Given the description of an element on the screen output the (x, y) to click on. 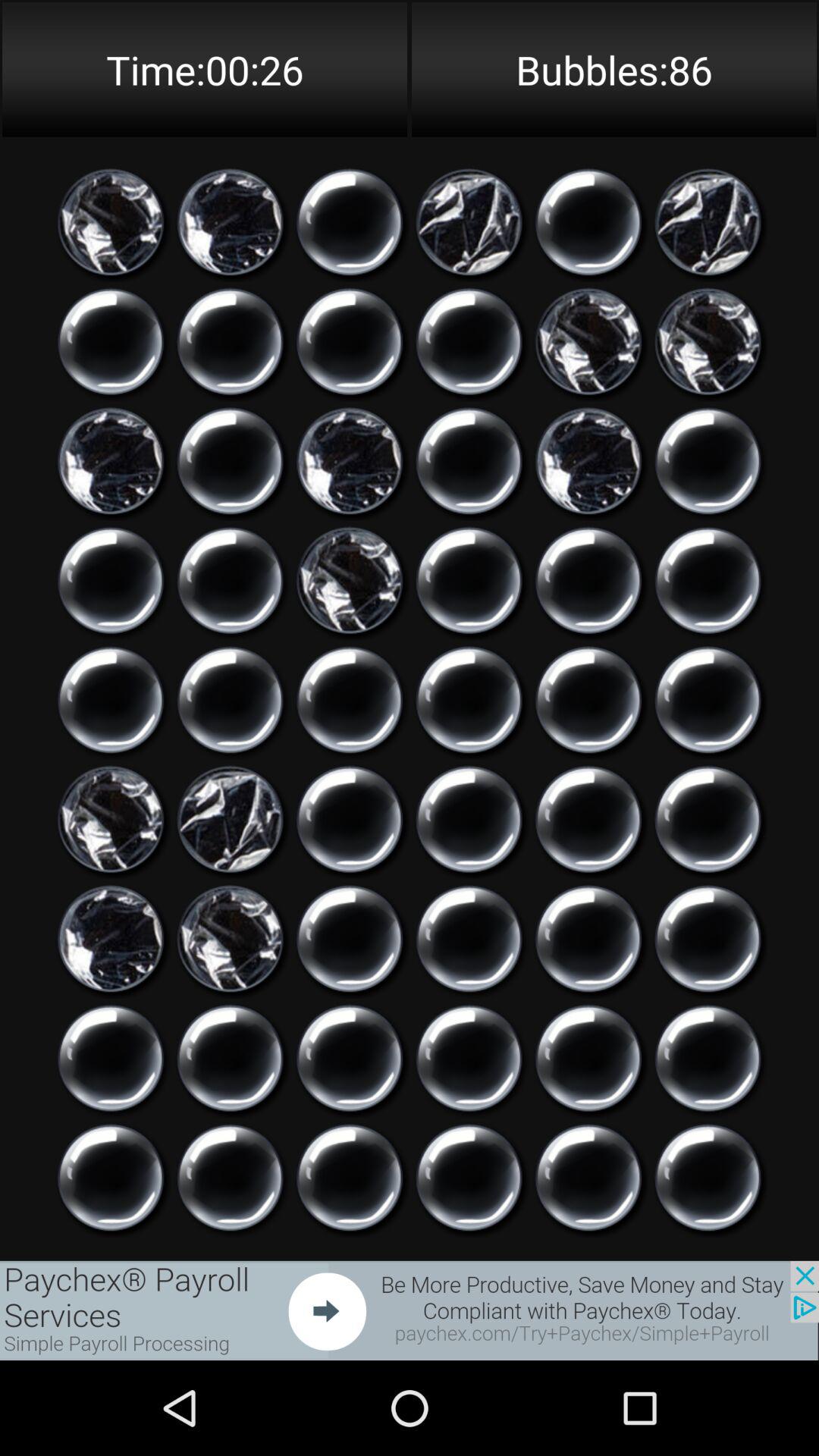
popped bubble (468, 222)
